Given the description of an element on the screen output the (x, y) to click on. 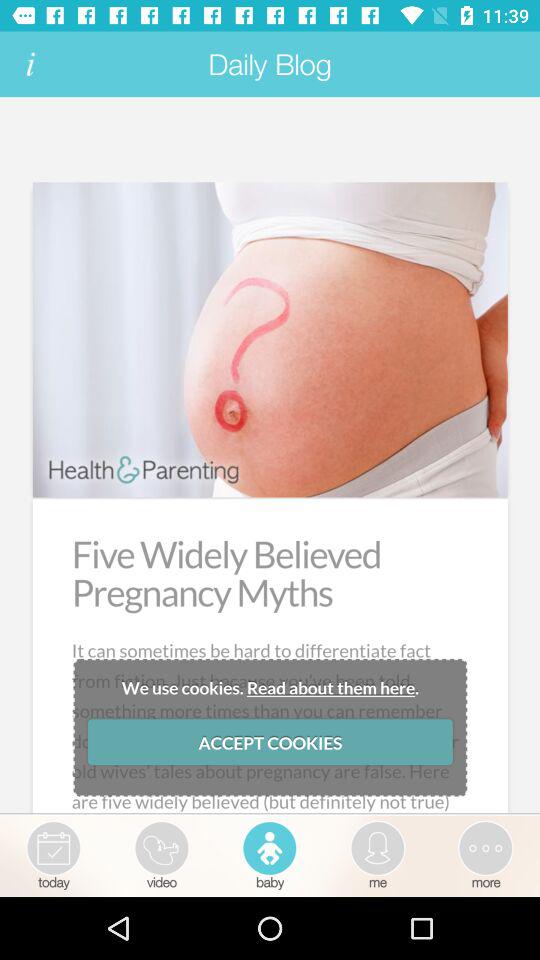
webpage view (270, 456)
